Given the description of an element on the screen output the (x, y) to click on. 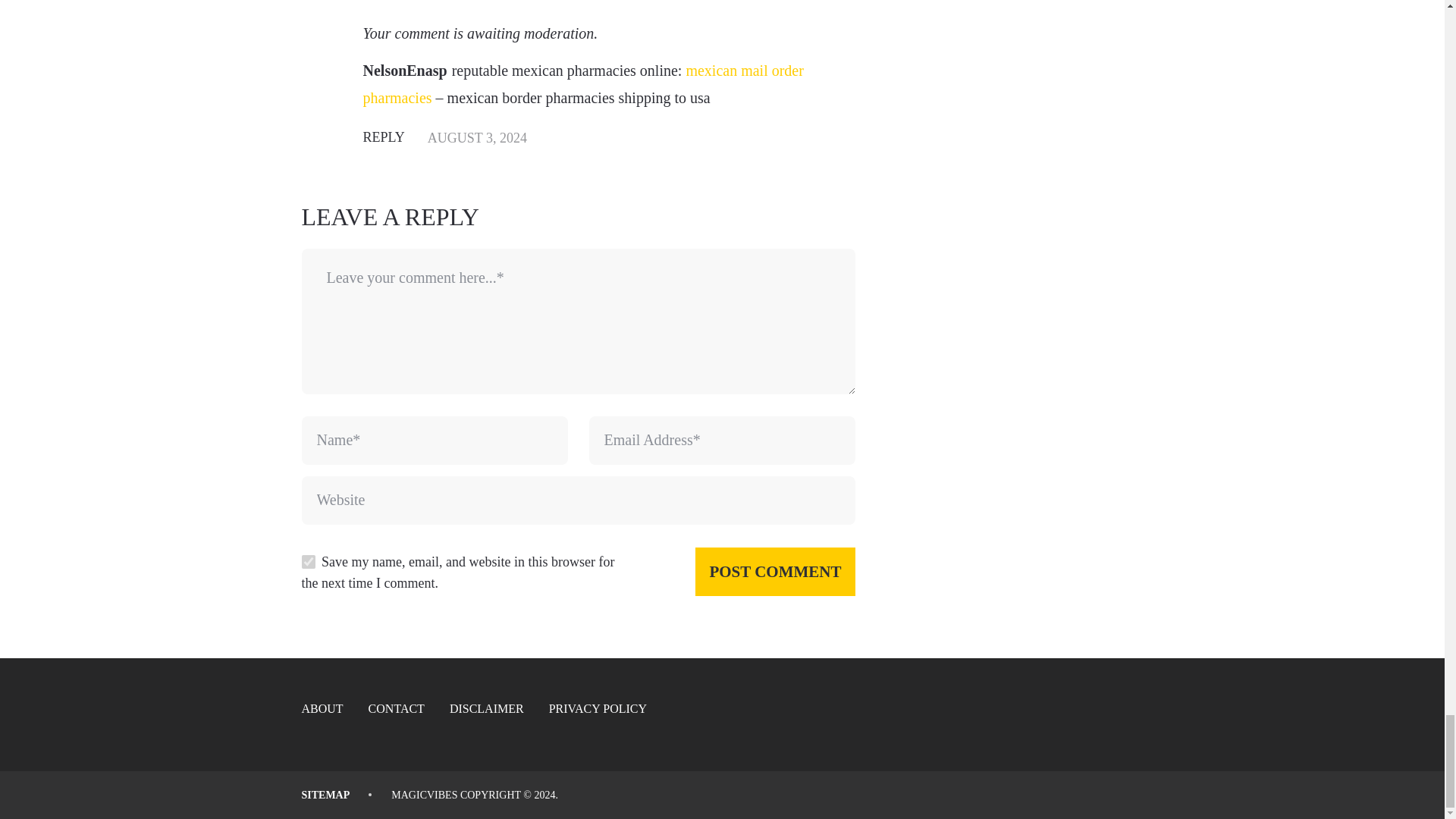
Post Comment (774, 571)
REPLY (383, 136)
yes (308, 561)
mexican mail order pharmacies (582, 84)
Post Comment (774, 571)
